Given the description of an element on the screen output the (x, y) to click on. 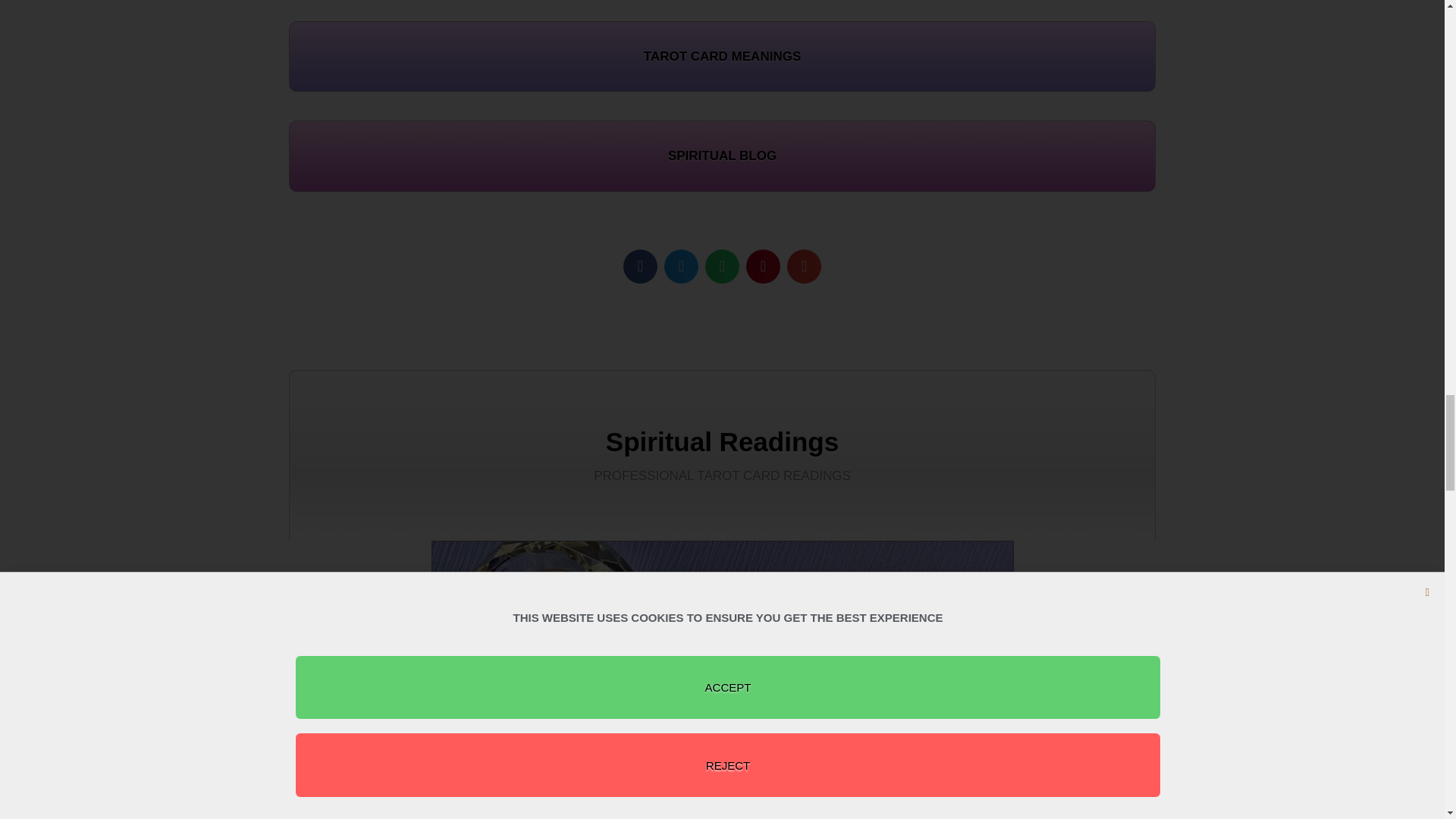
TAROT CARD MEANINGS (722, 56)
SPIRITUAL BLOG (722, 155)
